Given the description of an element on the screen output the (x, y) to click on. 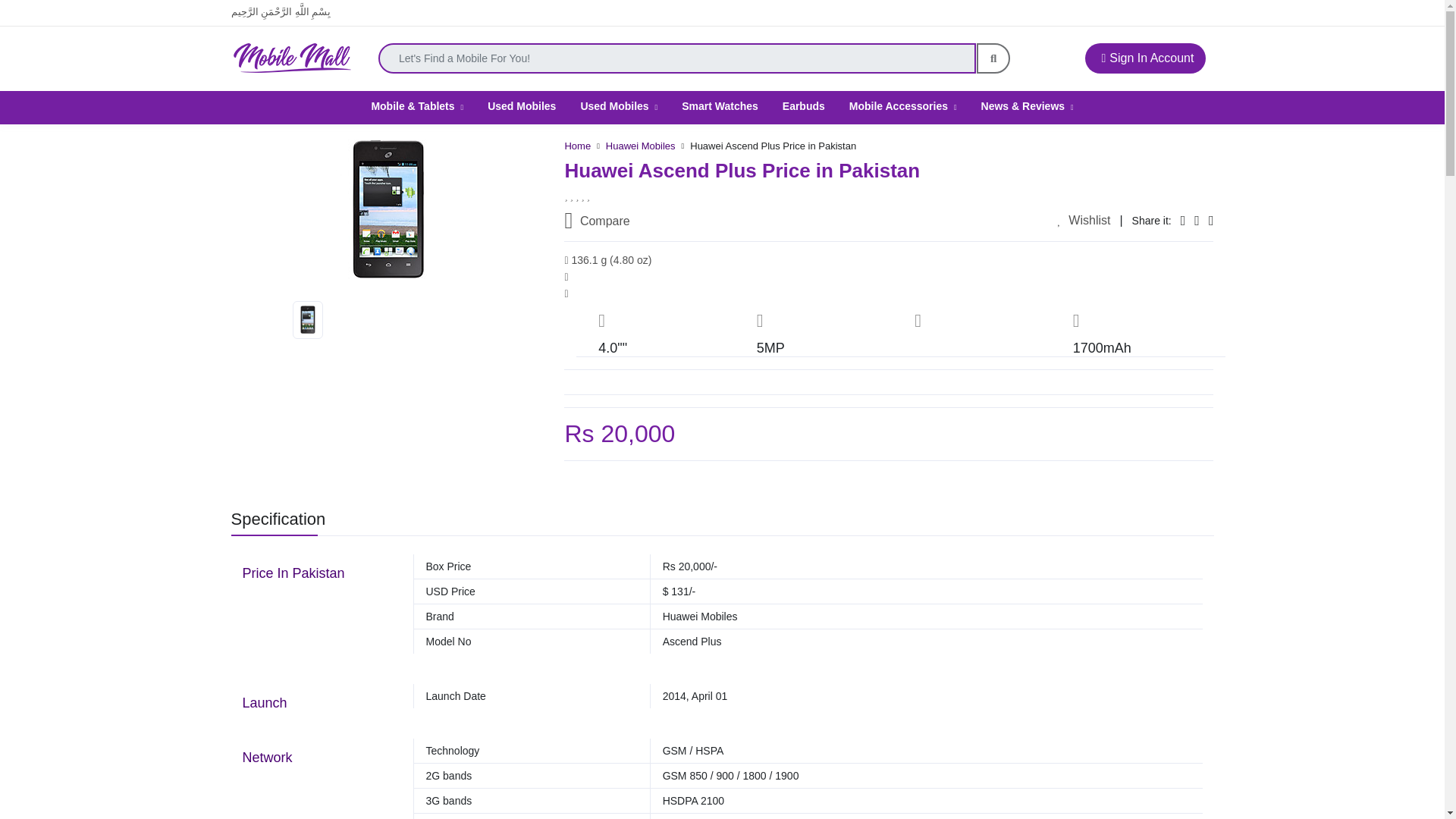
Used Mobiles (618, 105)
Search (993, 57)
Smart Watches (719, 105)
Used Mobiles (521, 105)
Earbuds (804, 105)
